Given the description of an element on the screen output the (x, y) to click on. 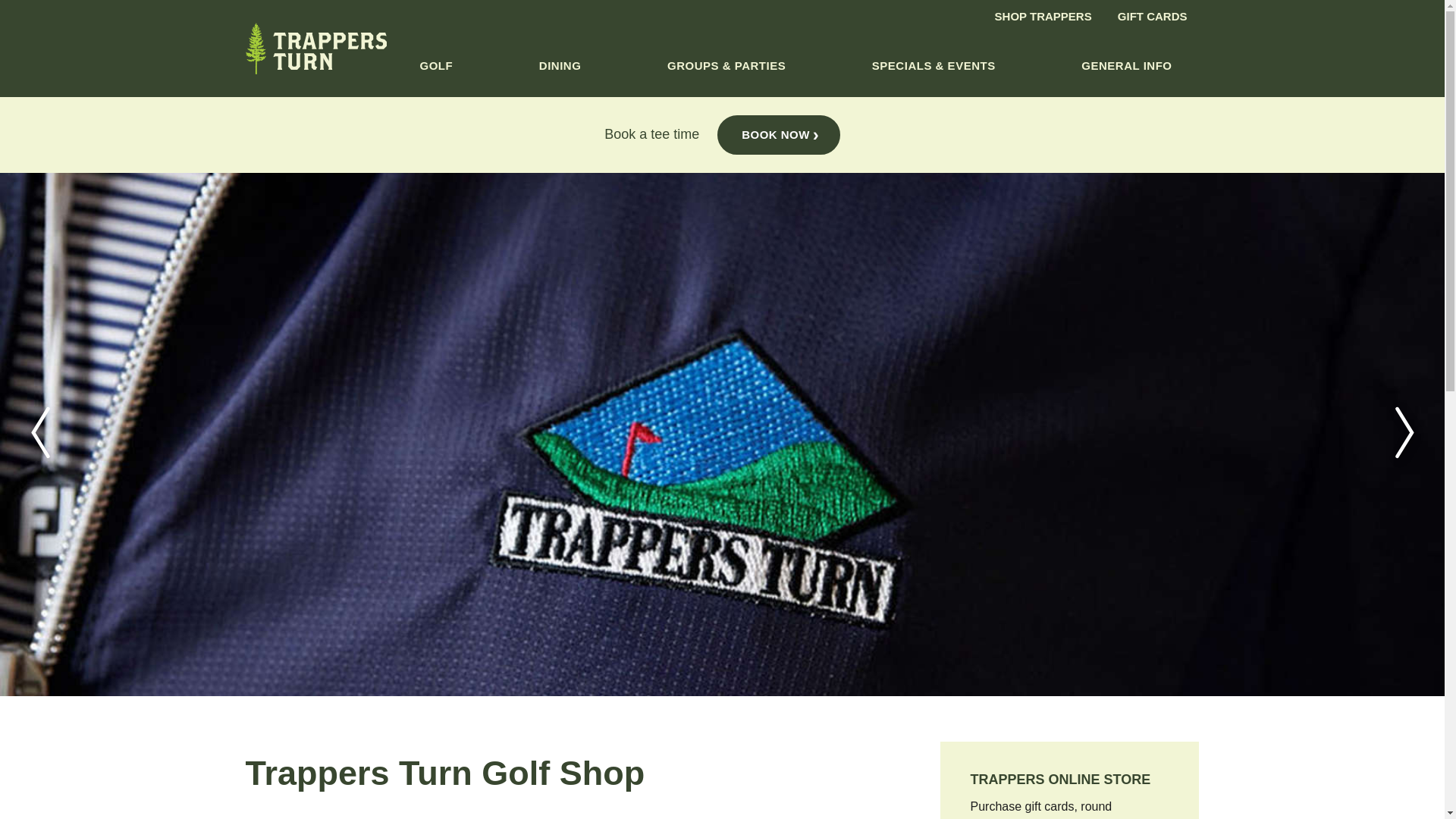
SHOP TRAPPERS (1043, 16)
DINING (559, 76)
GOLF (436, 76)
GIFT CARDS (1152, 16)
